Given the description of an element on the screen output the (x, y) to click on. 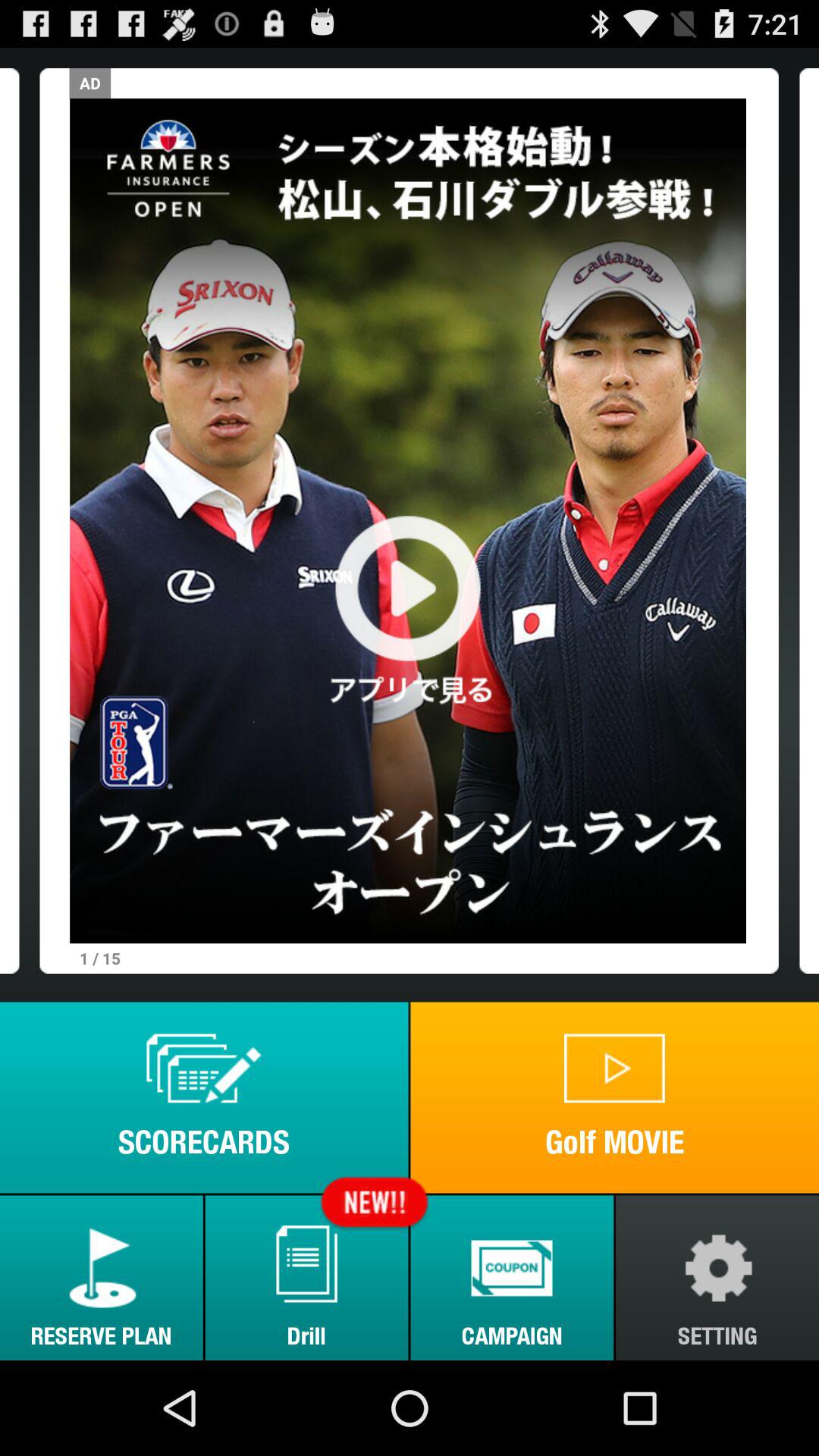
flip to the campaign button (511, 1277)
